Given the description of an element on the screen output the (x, y) to click on. 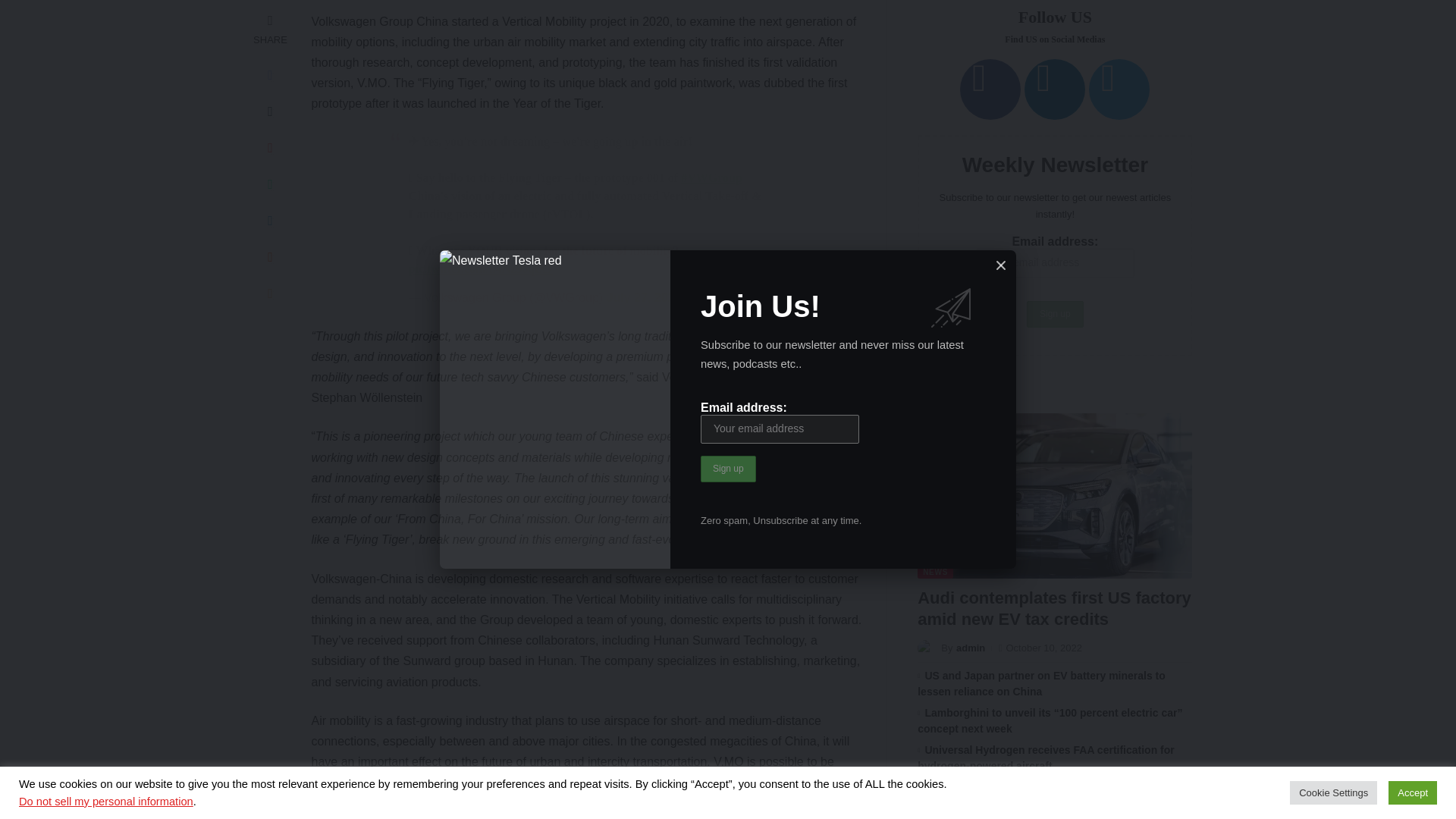
Audi contemplates first US factory amid new EV tax credits (1054, 40)
